Given the description of an element on the screen output the (x, y) to click on. 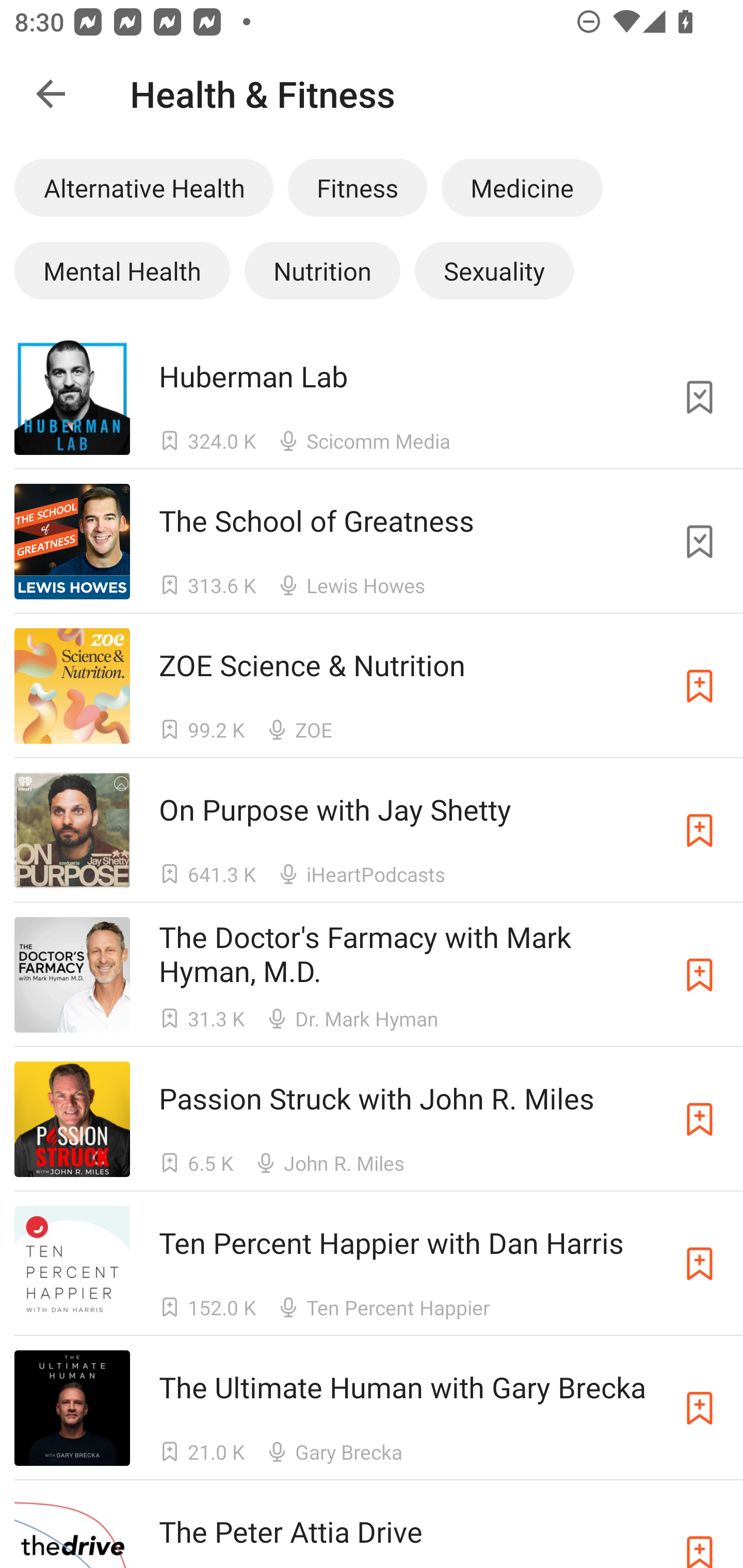
Navigate up (50, 93)
Alternative Health (143, 187)
Fitness (357, 187)
Medicine (521, 187)
Mental Health (122, 270)
Nutrition (322, 270)
Sexuality (493, 270)
Unsubscribe (699, 396)
Unsubscribe (699, 541)
Subscribe (699, 685)
Subscribe (699, 830)
Subscribe (699, 975)
Subscribe (699, 1119)
Subscribe (699, 1263)
Subscribe (699, 1408)
Subscribe (699, 1531)
